Given the description of an element on the screen output the (x, y) to click on. 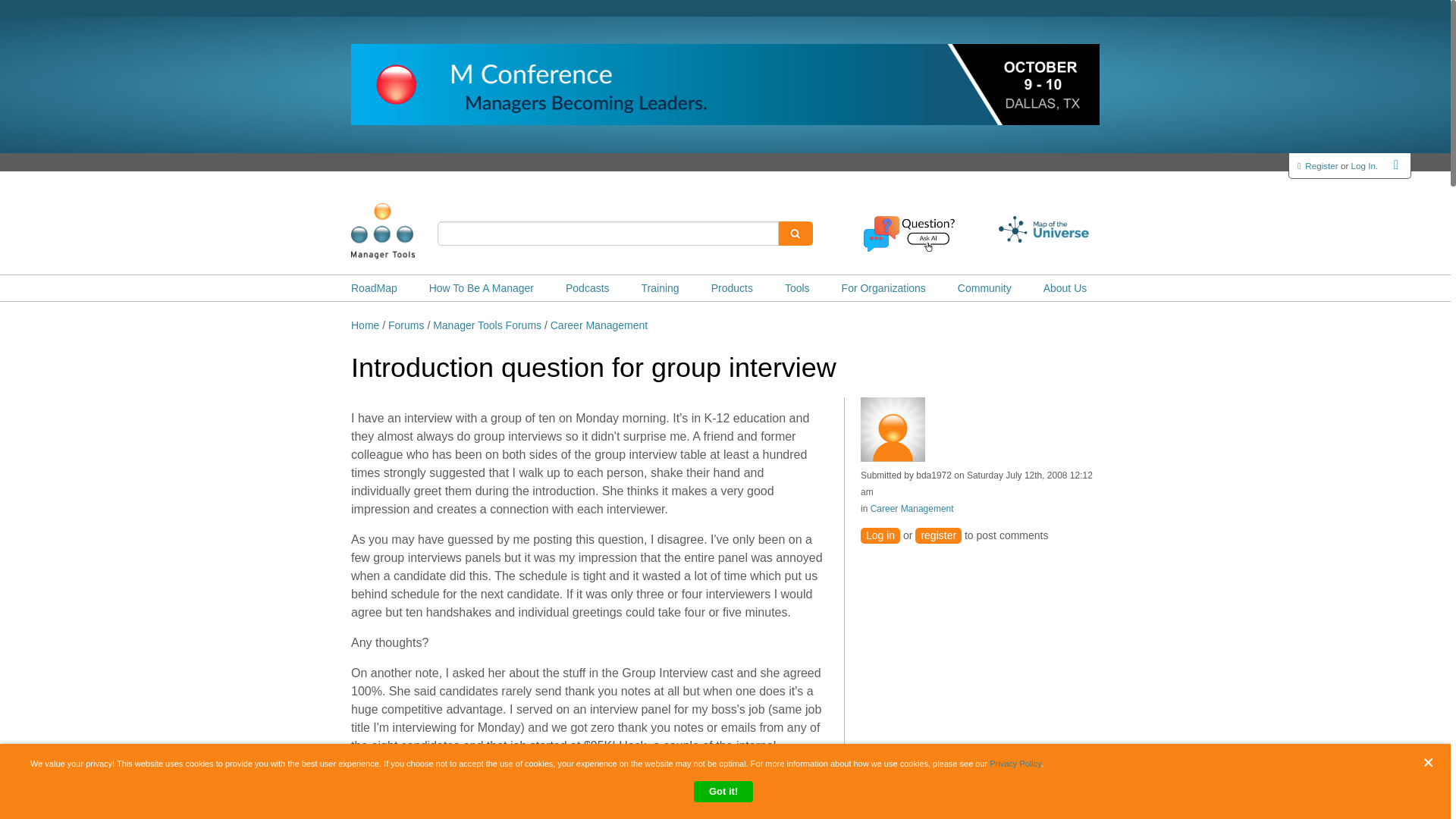
Podcasts (588, 288)
Got it! (723, 791)
Search (795, 233)
Privacy Policy (1015, 763)
Enter the terms you wish to search for. (608, 233)
Home (406, 231)
Log In (1363, 165)
RoadMap (373, 288)
Search (795, 233)
About Cookie Control (37, 769)
How To Be A Manager (481, 288)
About Cookie Control (37, 769)
Training (660, 288)
Close (1431, 762)
Register (1321, 165)
